Given the description of an element on the screen output the (x, y) to click on. 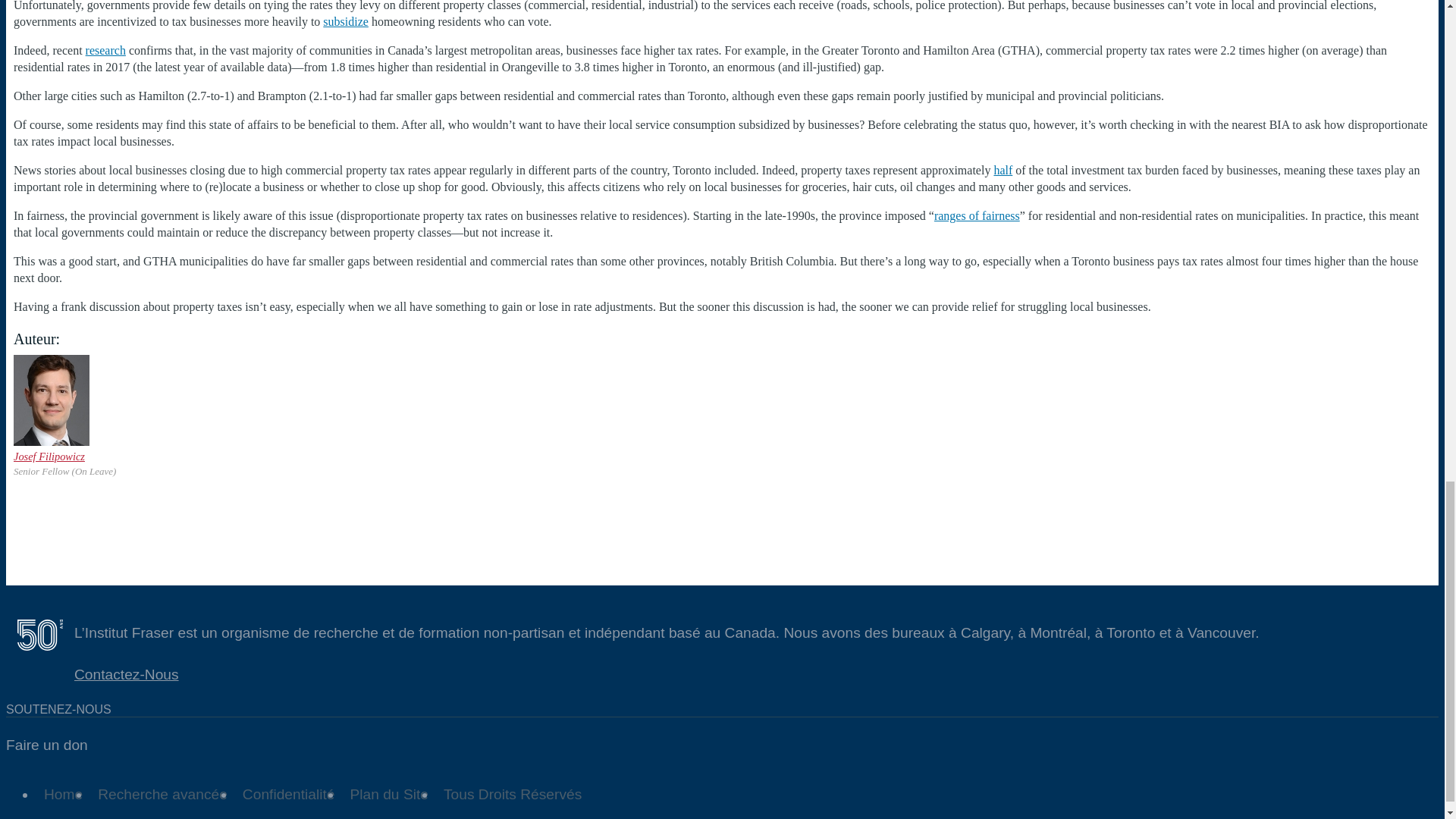
subsidize (345, 21)
half (1001, 169)
research (105, 50)
Contactez-Nous (126, 674)
ranges of fairness (977, 215)
Josef Filipowicz (48, 456)
Faire un don (46, 744)
Plan du Site (388, 794)
Home (63, 794)
